Given the description of an element on the screen output the (x, y) to click on. 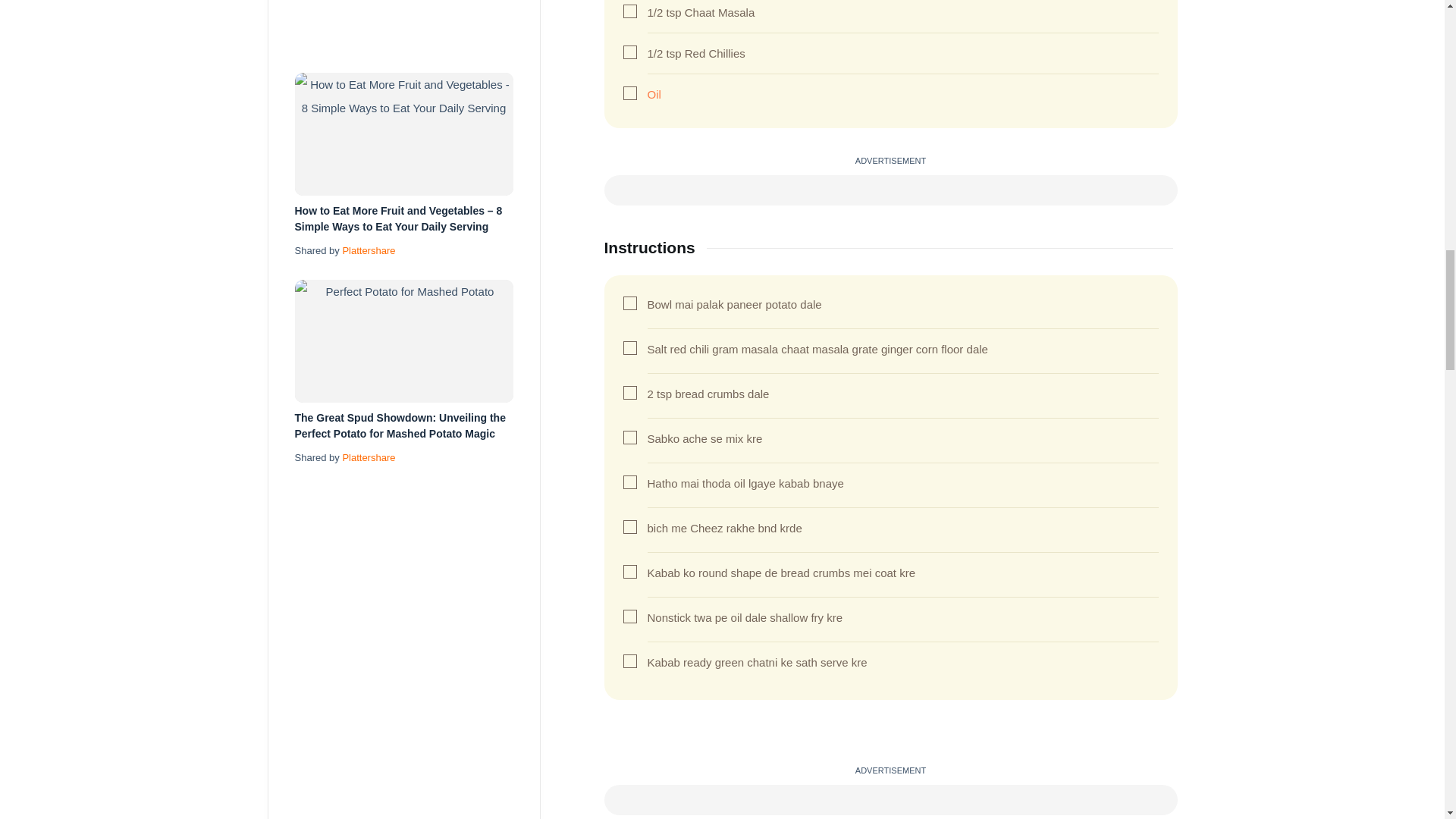
Oil (654, 93)
